Given the description of an element on the screen output the (x, y) to click on. 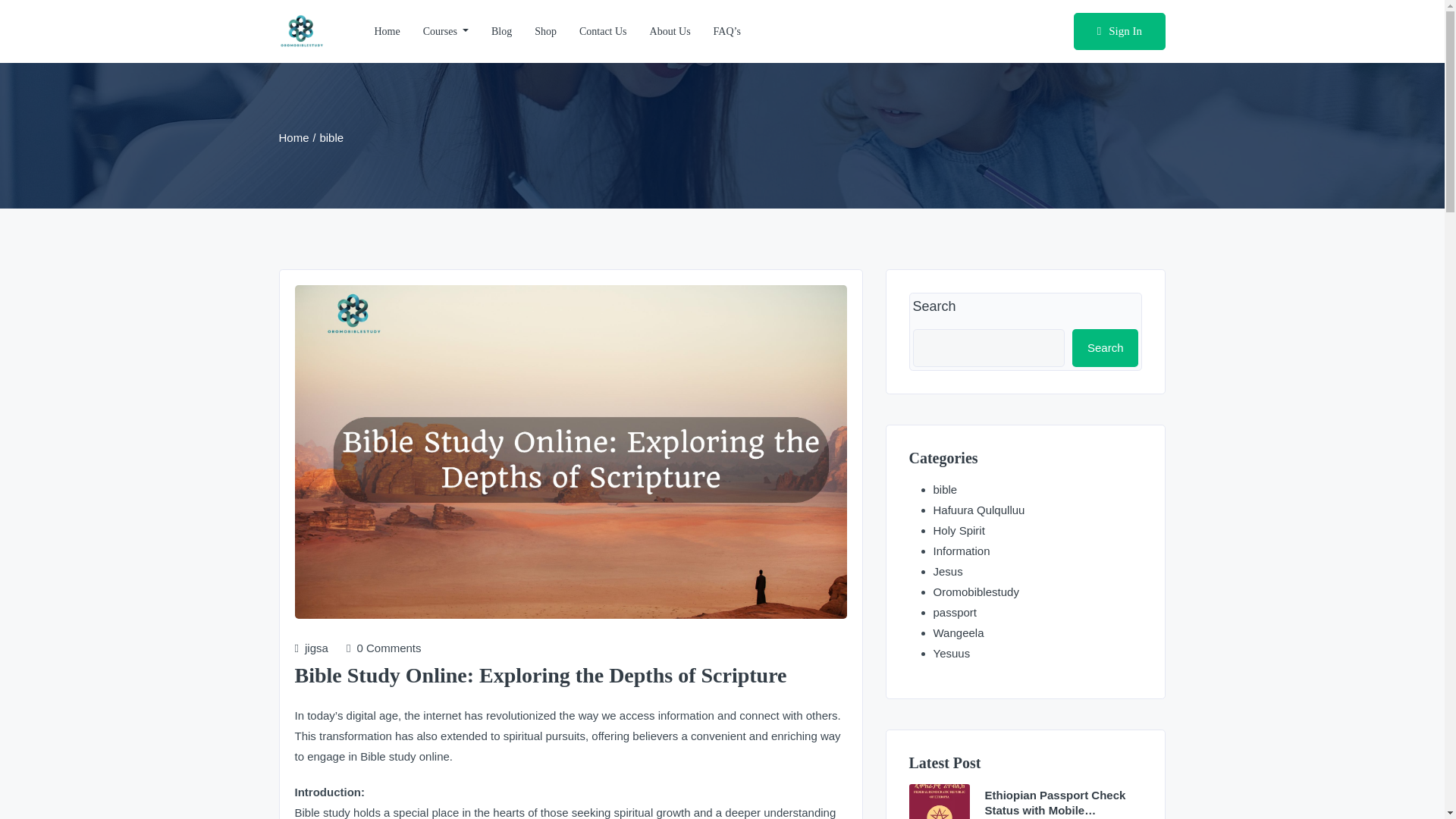
Search (1104, 347)
Jesus (947, 571)
Information (961, 550)
bible (330, 137)
Sign In (1120, 31)
Home (293, 137)
Holy Spirit (958, 530)
ET - Oromobiblestudy (938, 801)
passport (954, 612)
oromobibletudy - Oromobiblestudy (301, 31)
Oromobiblestudy (975, 591)
Courses (446, 31)
Contact Us (603, 31)
bible (944, 489)
